Given the description of an element on the screen output the (x, y) to click on. 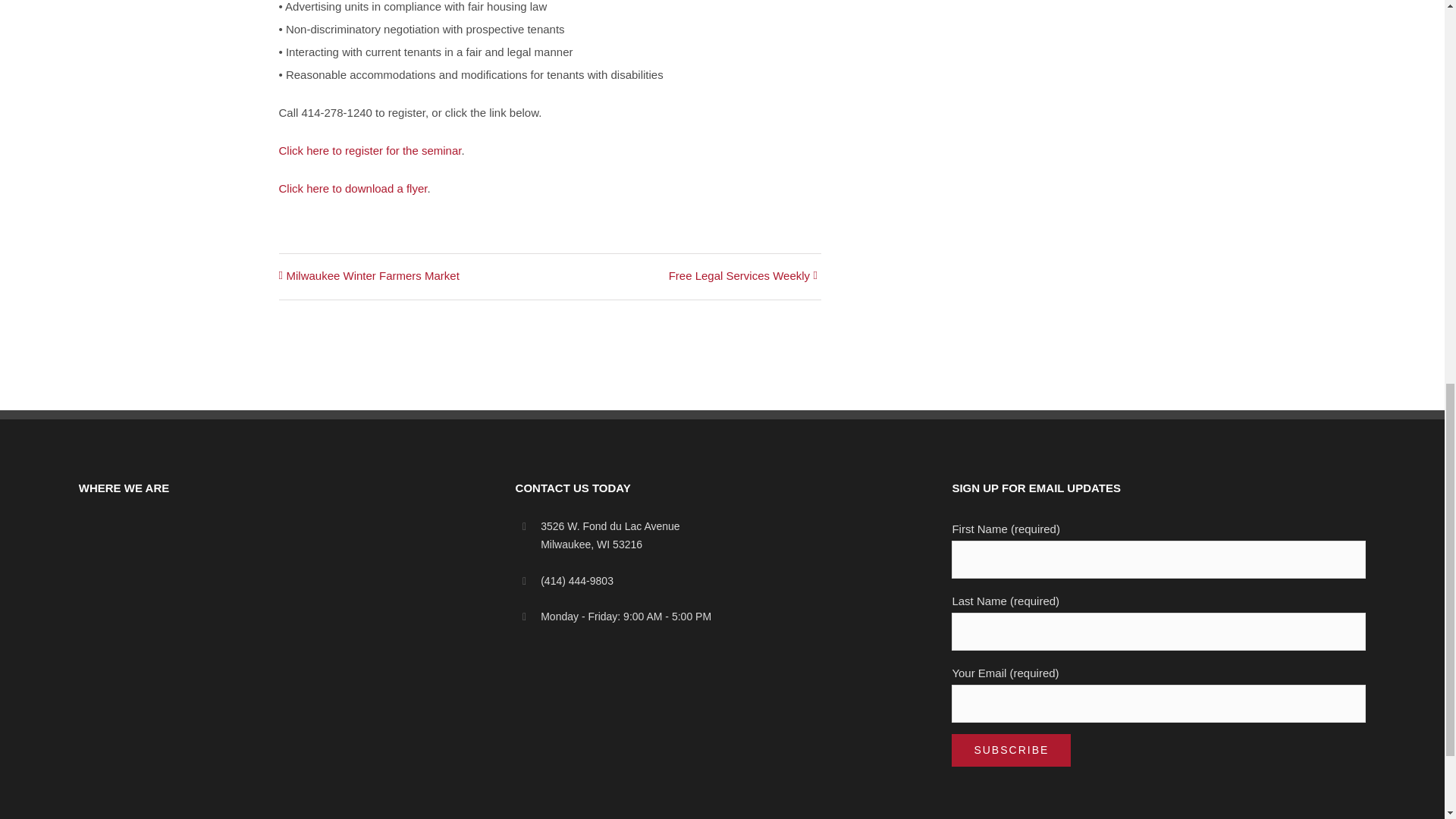
SUBSCRIBE (1011, 749)
